Given the description of an element on the screen output the (x, y) to click on. 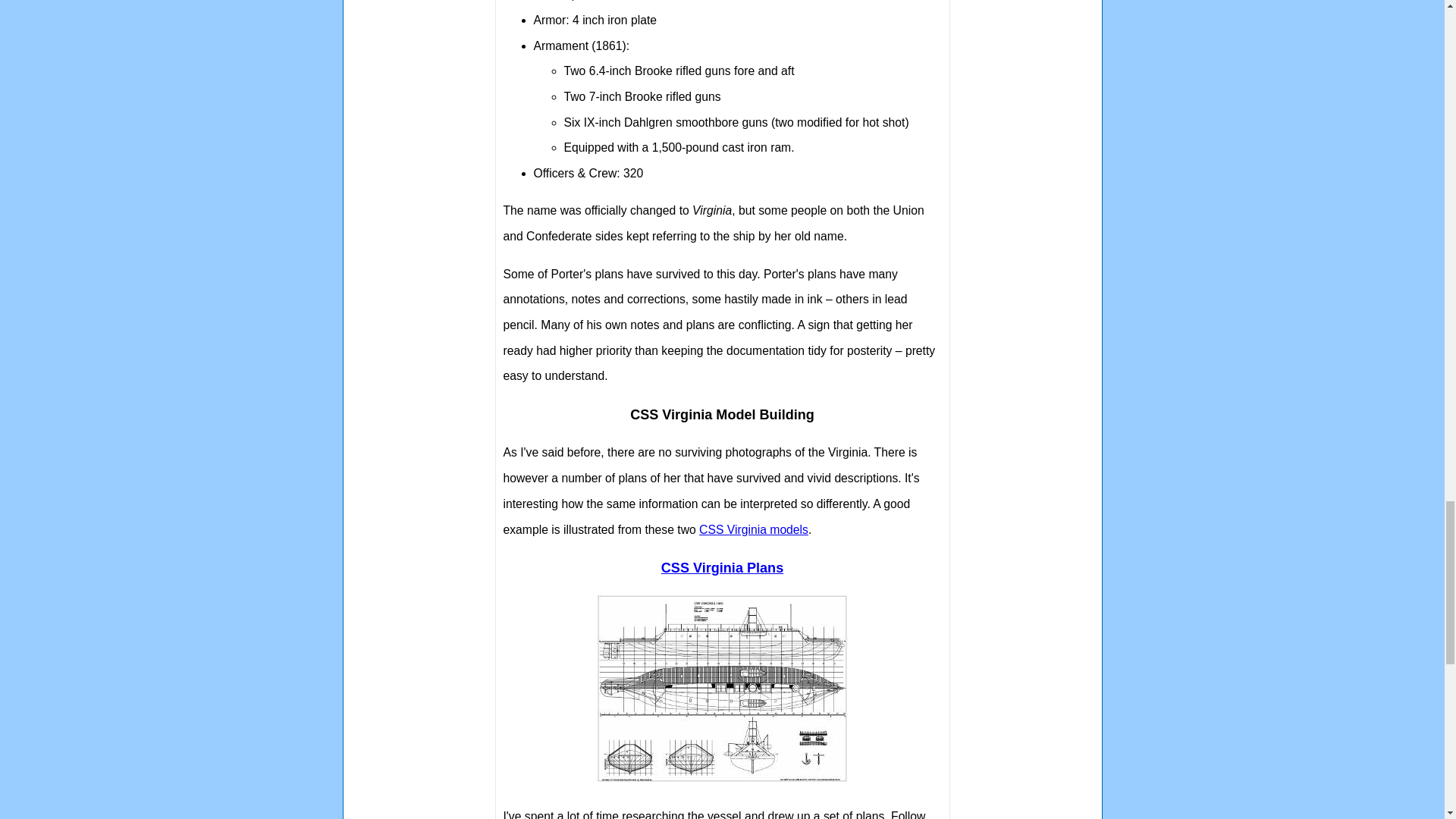
CSS Virginia models (753, 529)
CSS Virginia Plans (722, 567)
